Given the description of an element on the screen output the (x, y) to click on. 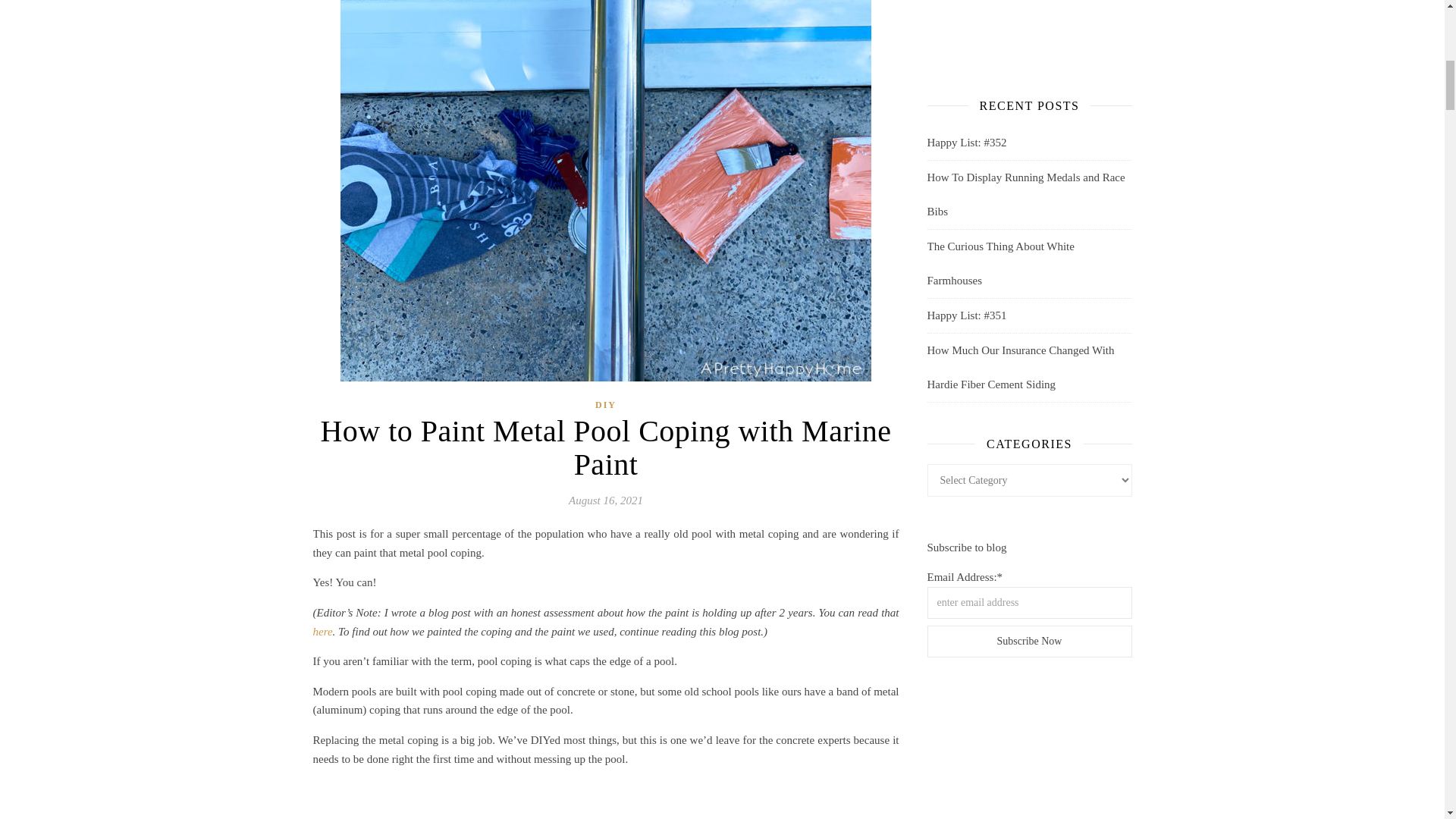
Subscribe Now (1028, 641)
How to Paint Metal Pool Coping with Marine Paint (605, 799)
